Given the description of an element on the screen output the (x, y) to click on. 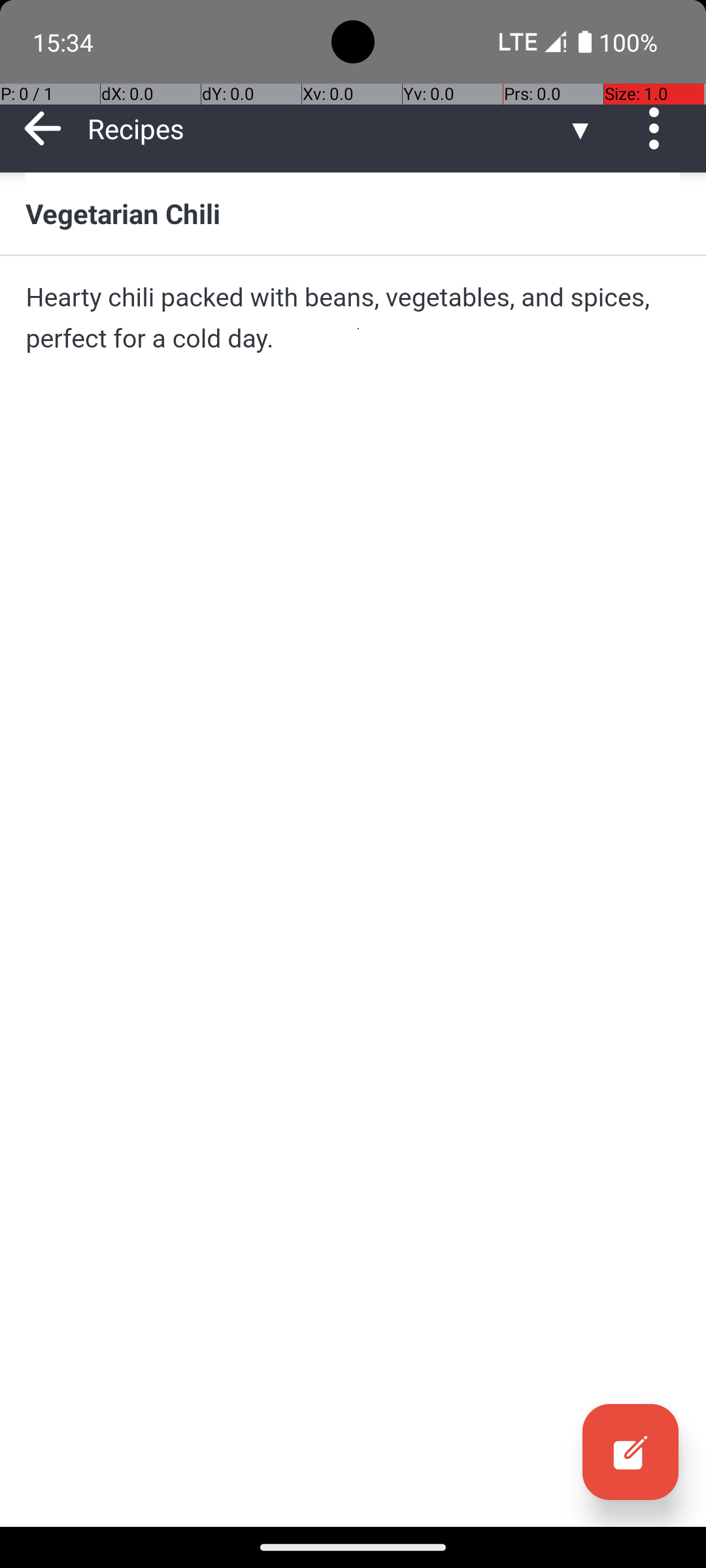
Vegetarian Chili Element type: android.widget.EditText (352, 213)
Hearty chili packed with beans, vegetables, and spices, perfect for a cold day. Element type: android.widget.TextView (352, 317)
